Given the description of an element on the screen output the (x, y) to click on. 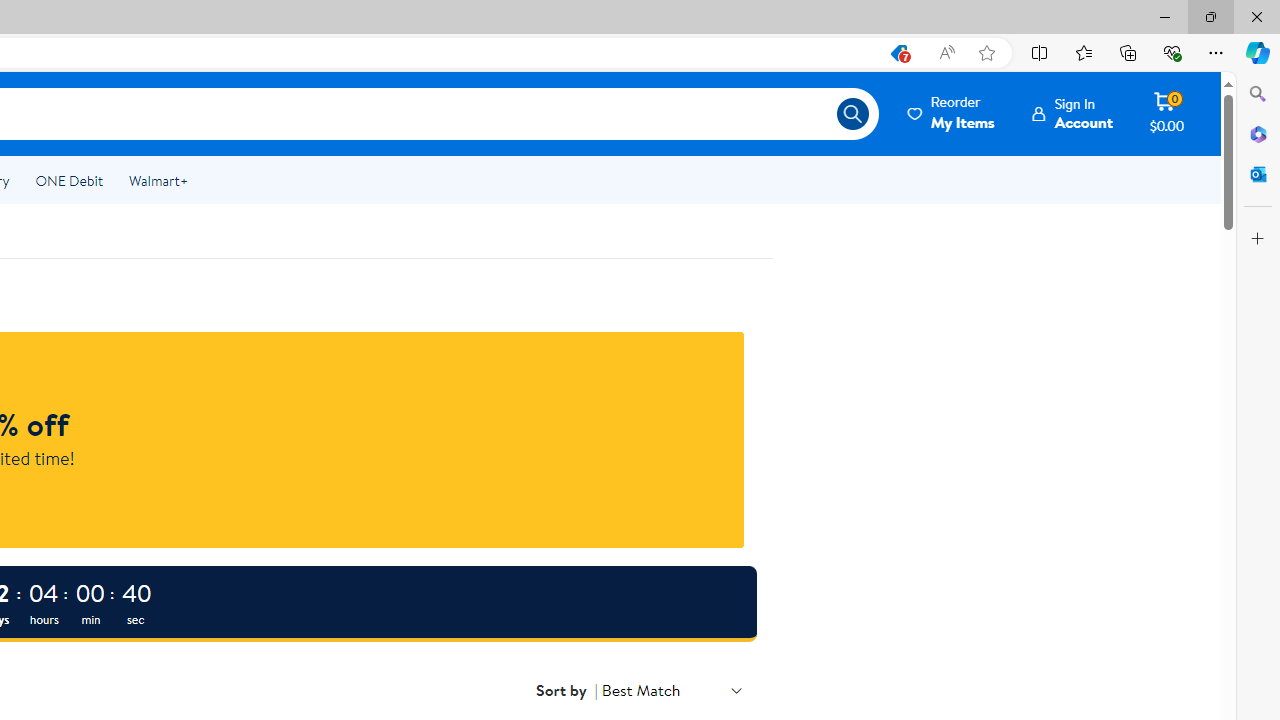
Walmart+ (158, 180)
ONE Debit (68, 180)
Sign InAccount (1072, 113)
Walmart+ (158, 180)
ONE Debit (68, 180)
Search icon (852, 113)
Sign In Account (1072, 113)
